Given the description of an element on the screen output the (x, y) to click on. 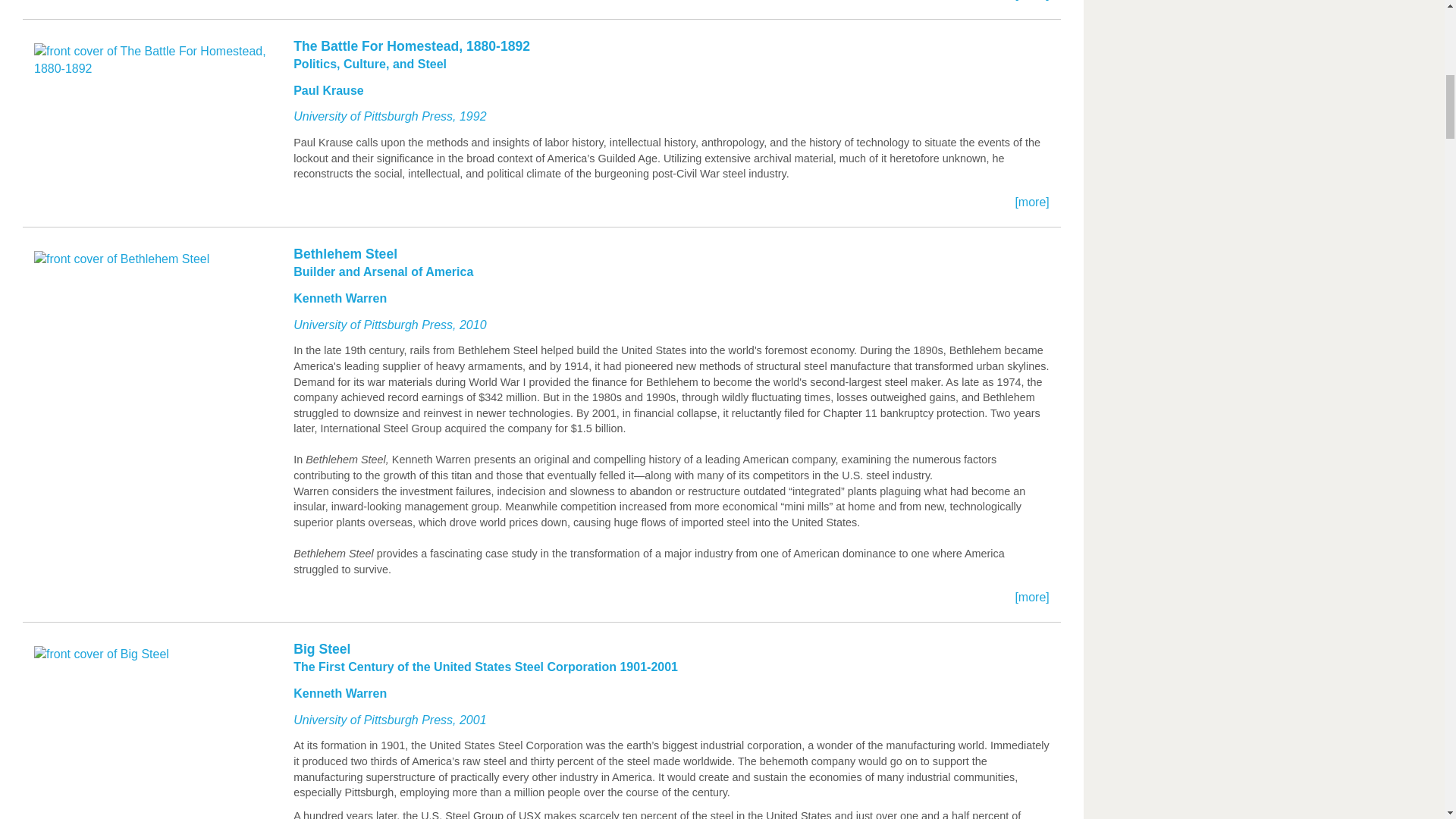
See more information about this book (541, 17)
